Given the description of an element on the screen output the (x, y) to click on. 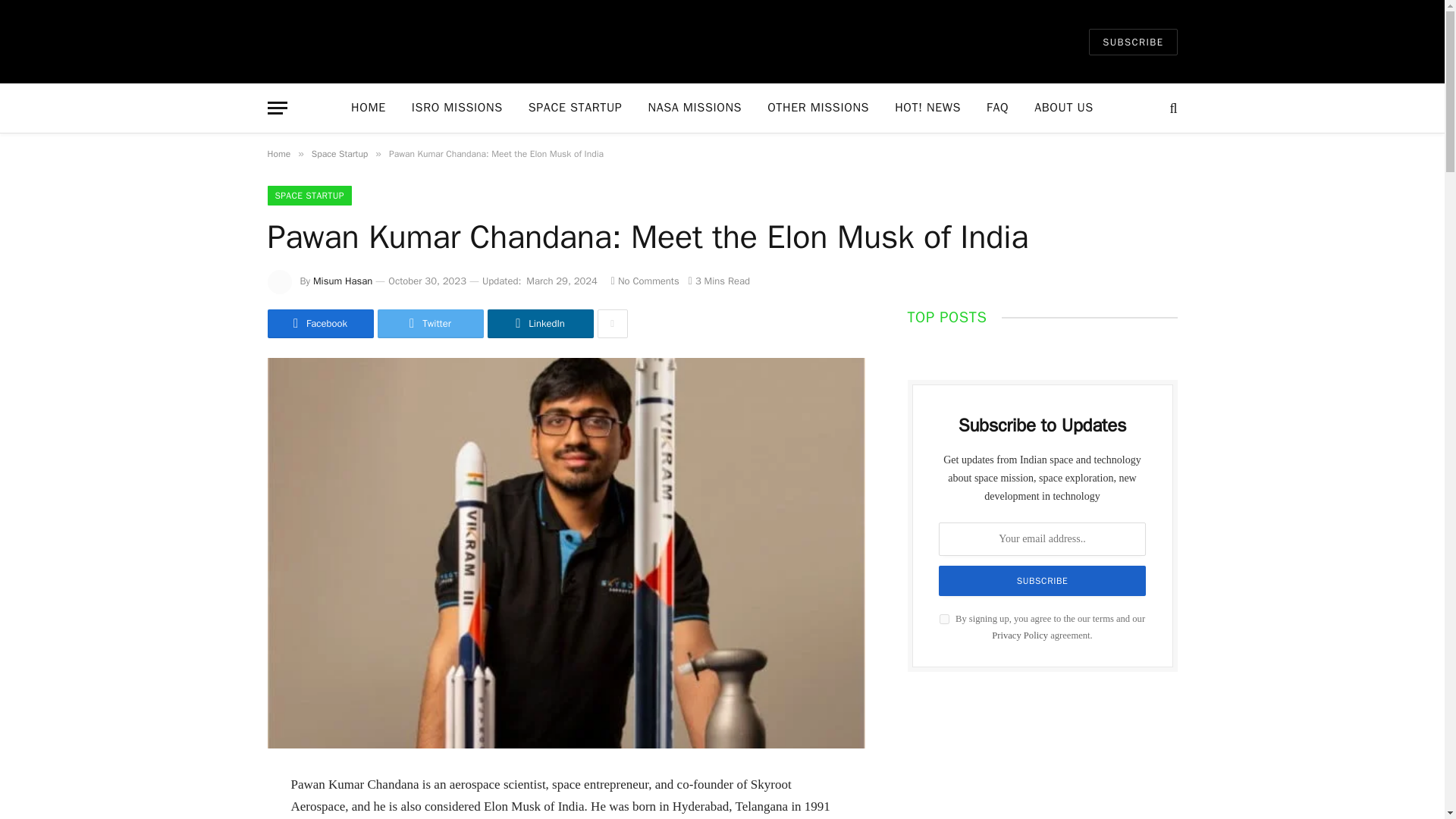
Misum Hasan (342, 280)
ISRO MISSIONS (456, 107)
OTHER MISSIONS (818, 107)
No Comments (645, 280)
NASA MISSIONS (694, 107)
SPACE STARTUP (574, 107)
Twitter (430, 323)
ABOUT US (1064, 107)
Share on Facebook (319, 323)
Share on LinkedIn (539, 323)
Facebook (319, 323)
SUBSCRIBE (1132, 41)
Subscribe (1043, 580)
FAQ (998, 107)
HOT! NEWS (928, 107)
